Given the description of an element on the screen output the (x, y) to click on. 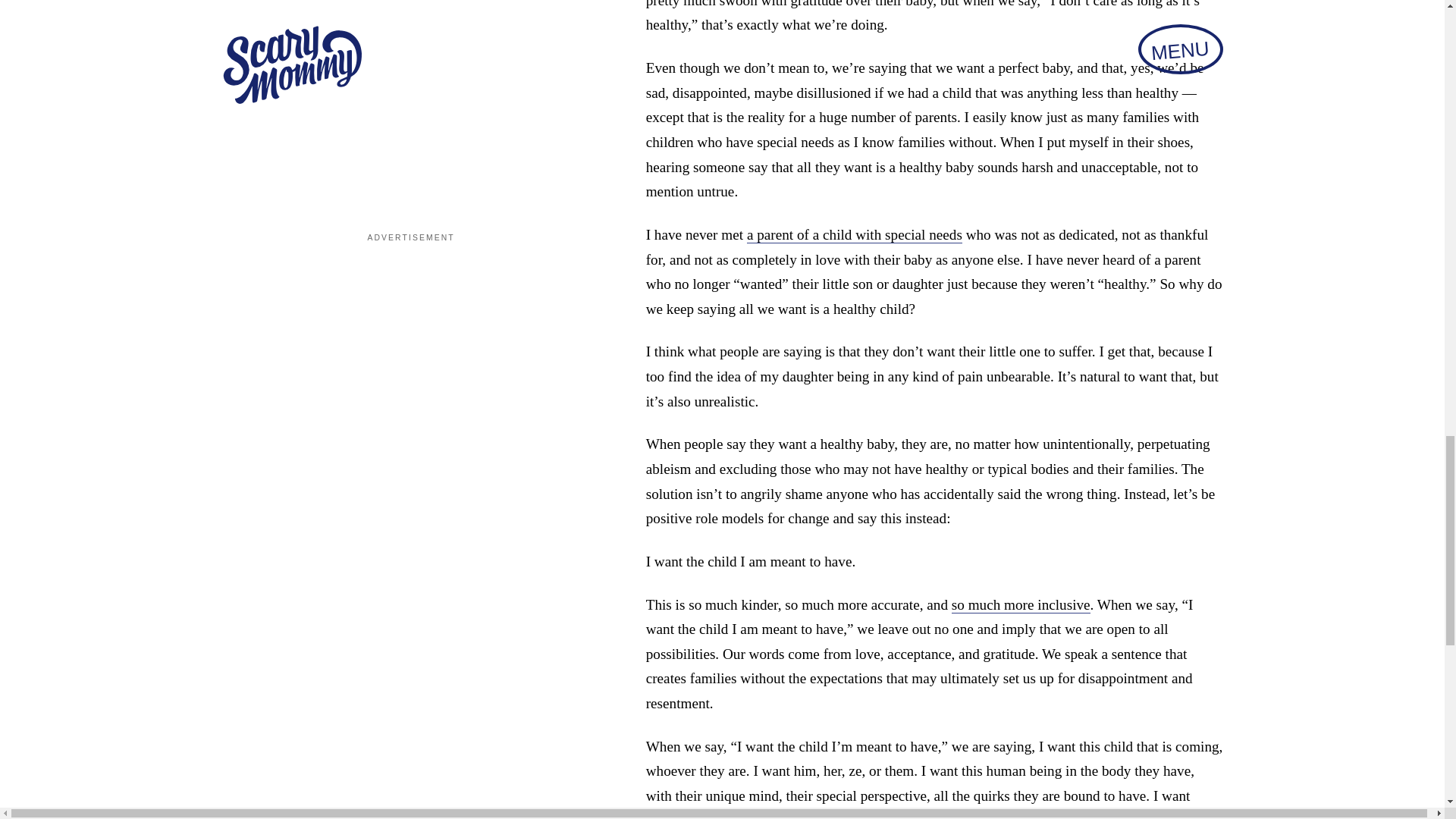
so much more inclusive (1021, 605)
a parent of a child with special needs (854, 234)
